Given the description of an element on the screen output the (x, y) to click on. 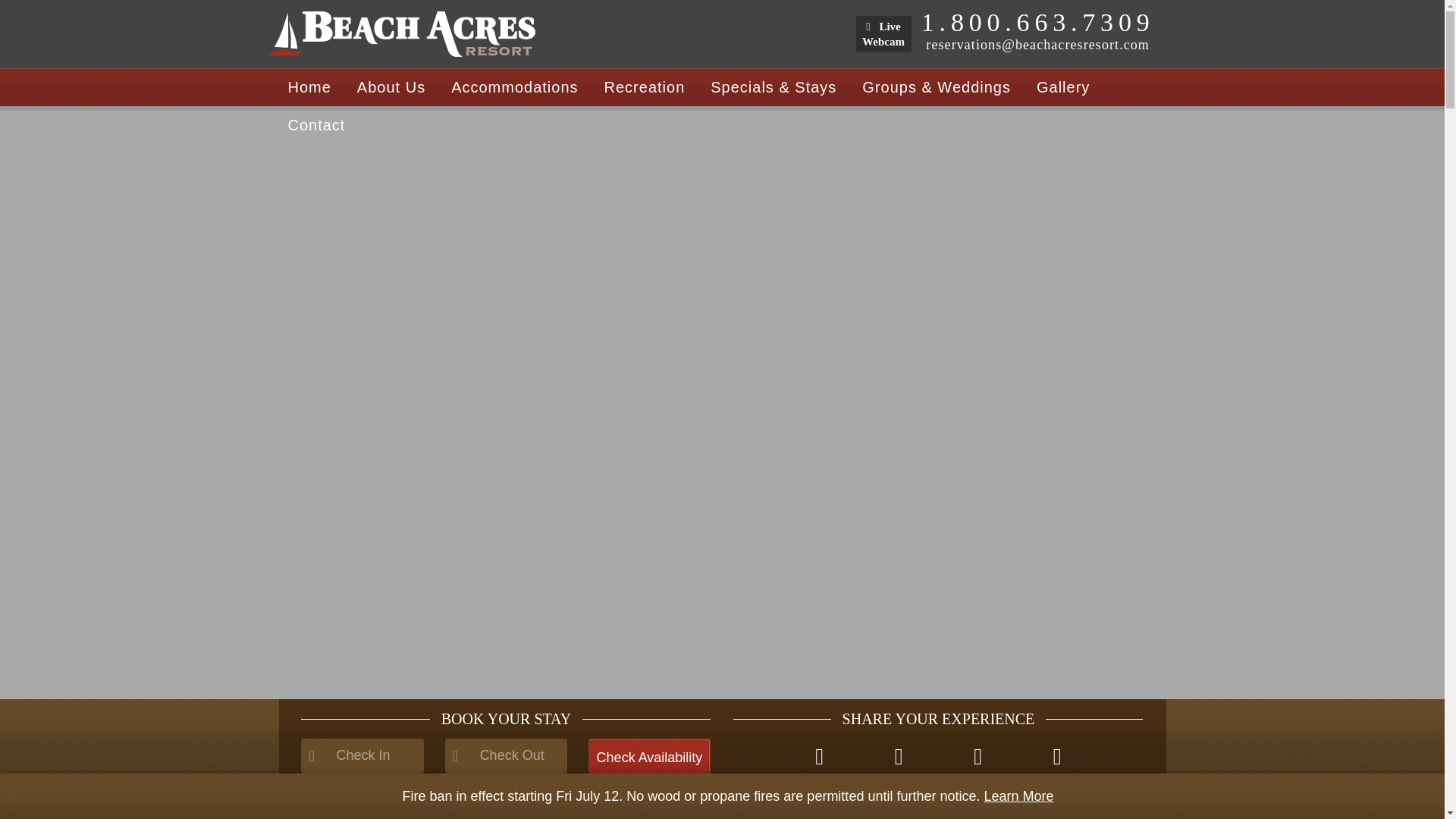
Check Availability (649, 755)
Check Availability (649, 755)
